Given the description of an element on the screen output the (x, y) to click on. 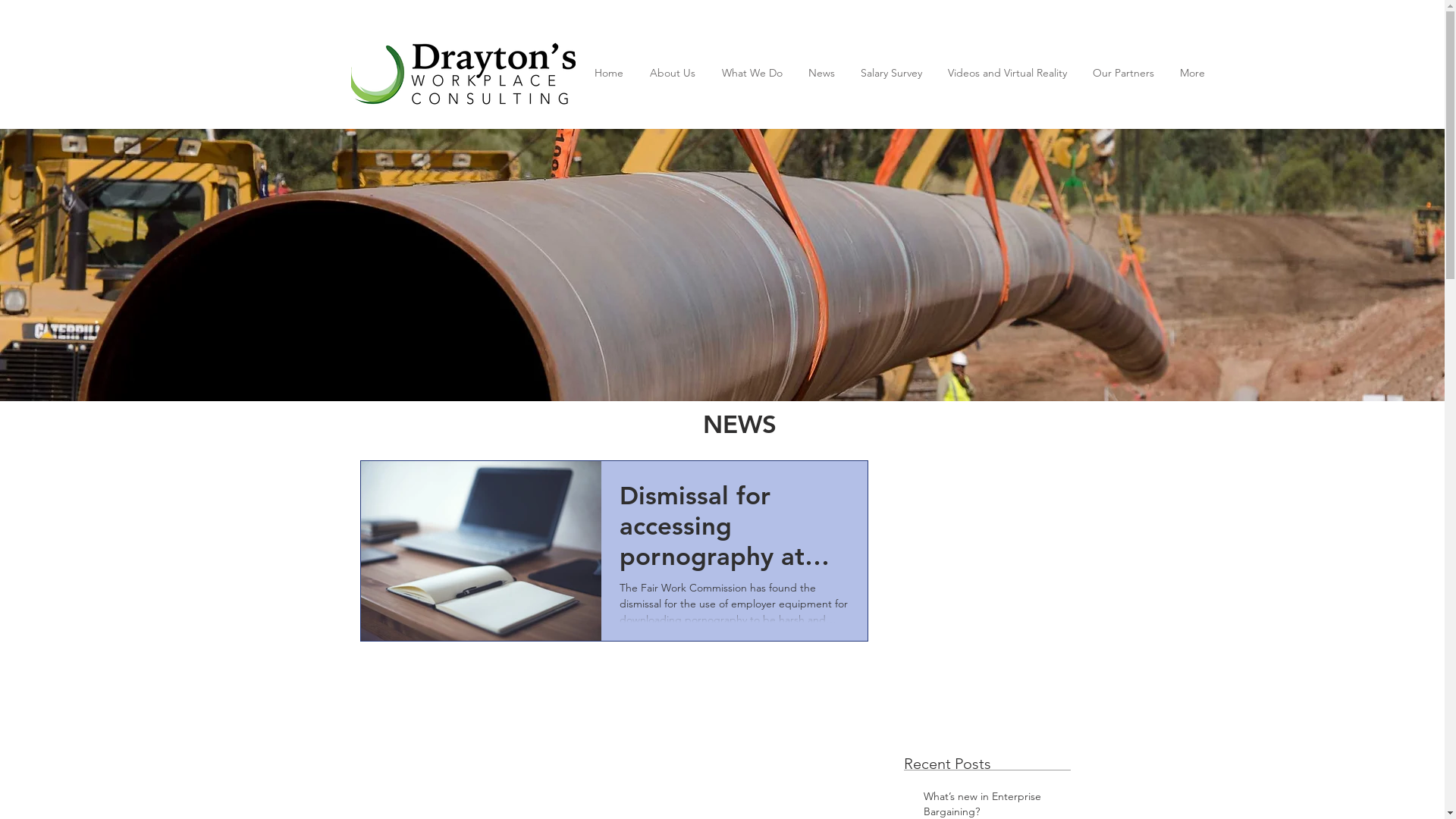
Salary Survey Element type: text (891, 72)
Our Partners Element type: text (1123, 72)
Dismissal for accessing pornography at work found harsh Element type: text (733, 529)
News Element type: text (820, 72)
What We Do Element type: text (751, 72)
Draytons Logo 2015.png Element type: hover (462, 72)
Videos and Virtual Reality Element type: text (1006, 72)
About Us Element type: text (673, 72)
Home Element type: text (608, 72)
